Given the description of an element on the screen output the (x, y) to click on. 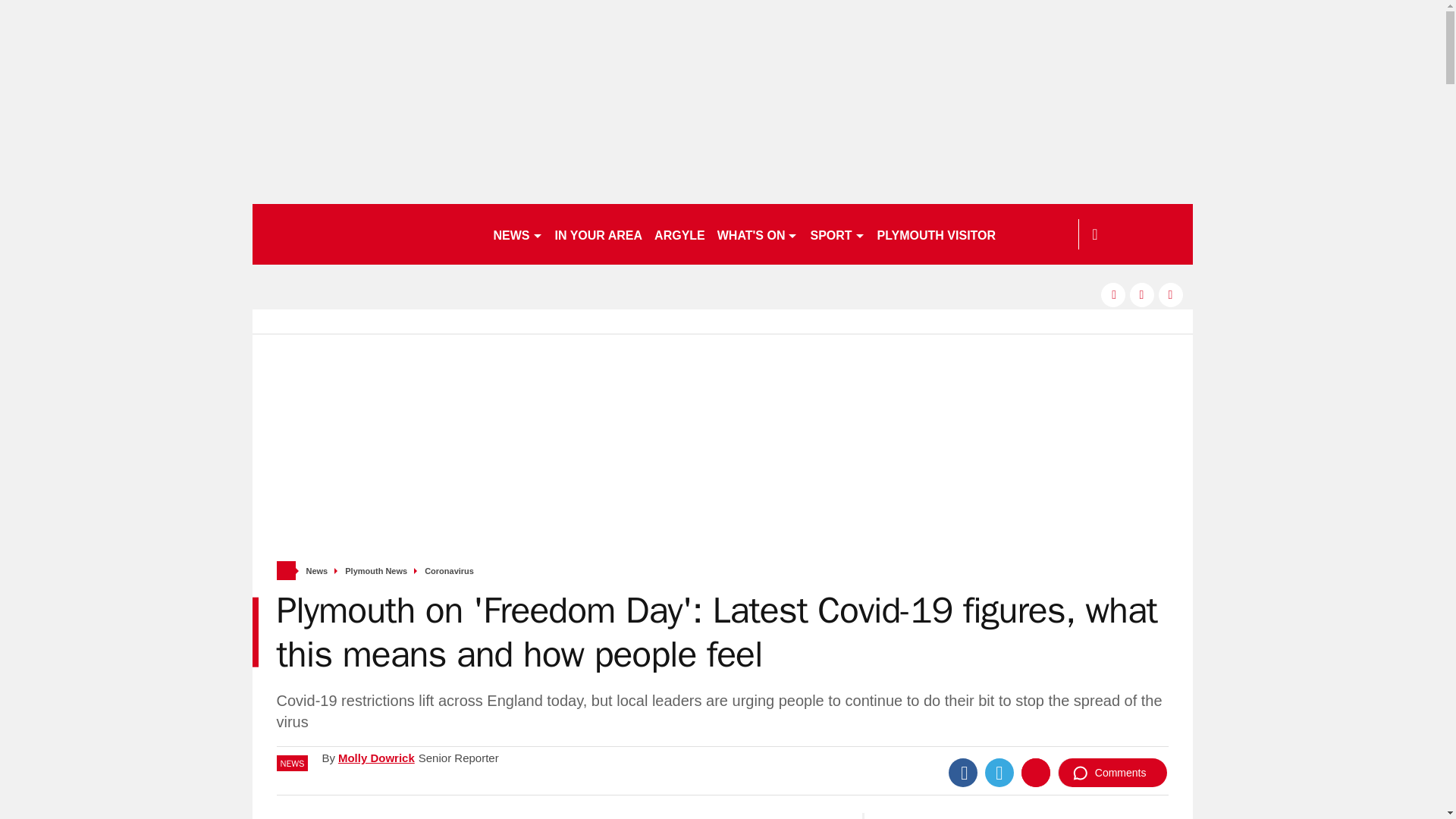
facebook (1112, 294)
Twitter (999, 772)
Comments (1112, 772)
instagram (1170, 294)
twitter (1141, 294)
WHAT'S ON (758, 233)
SPORT (836, 233)
IN YOUR AREA (598, 233)
Facebook (962, 772)
plymouthherald (365, 233)
